Given the description of an element on the screen output the (x, y) to click on. 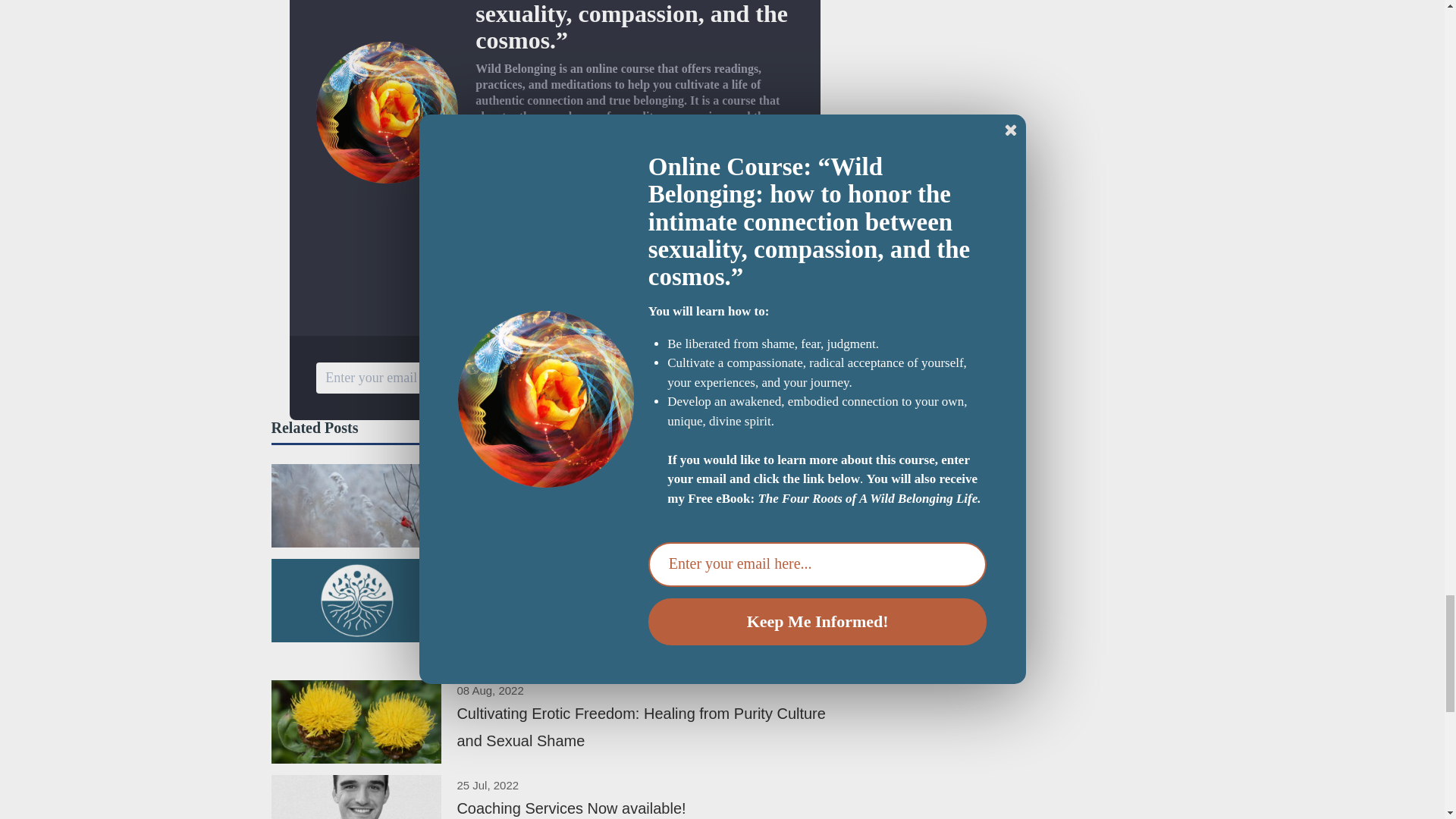
YES! KEEP ME INFORMED! (684, 377)
